Given the description of an element on the screen output the (x, y) to click on. 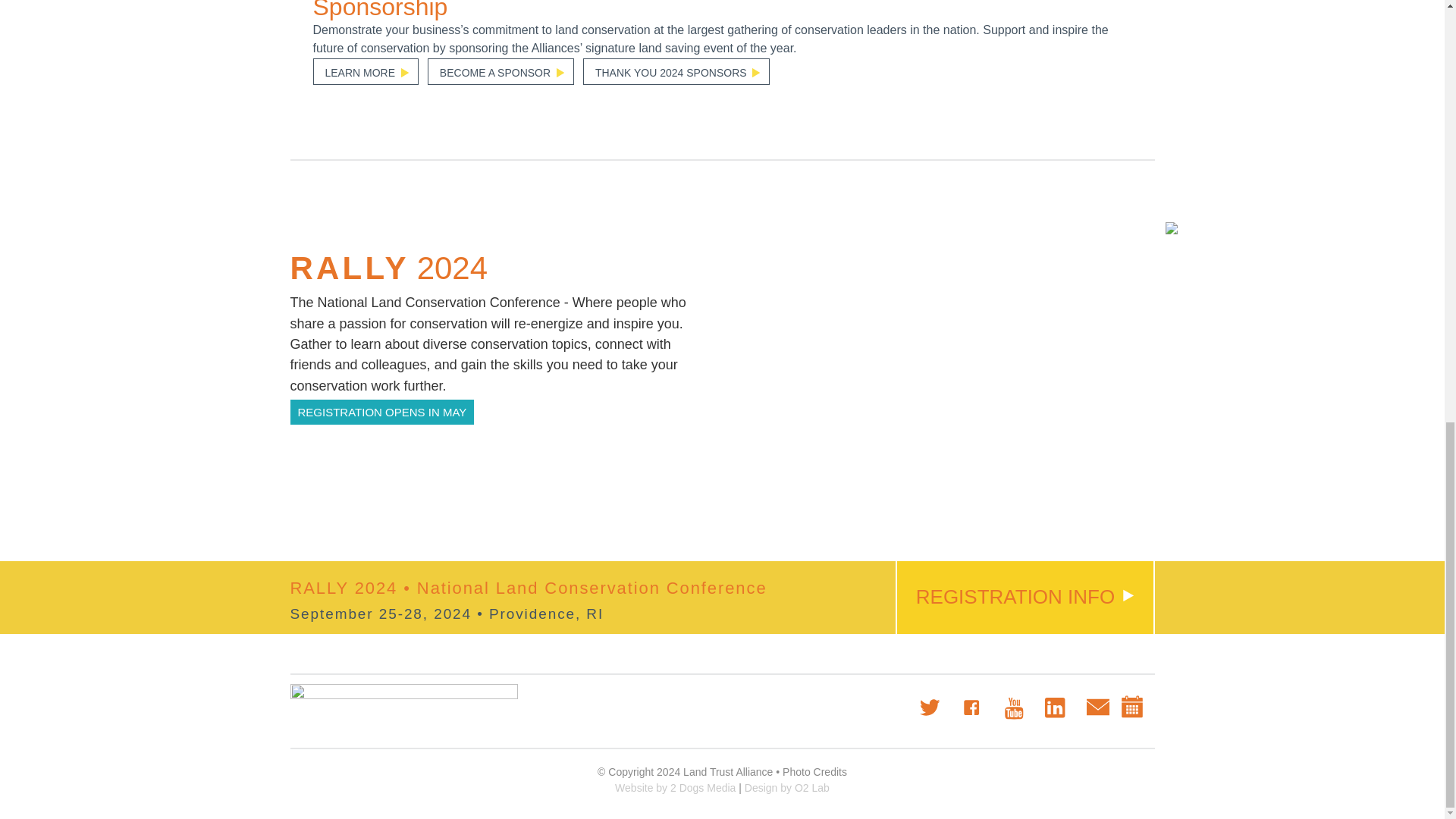
BECOME A SPONSOR   (500, 71)
THANK YOU 2024 SPONSORS   (676, 71)
LEARN MORE  (365, 71)
O2 Lab (786, 787)
